Given the description of an element on the screen output the (x, y) to click on. 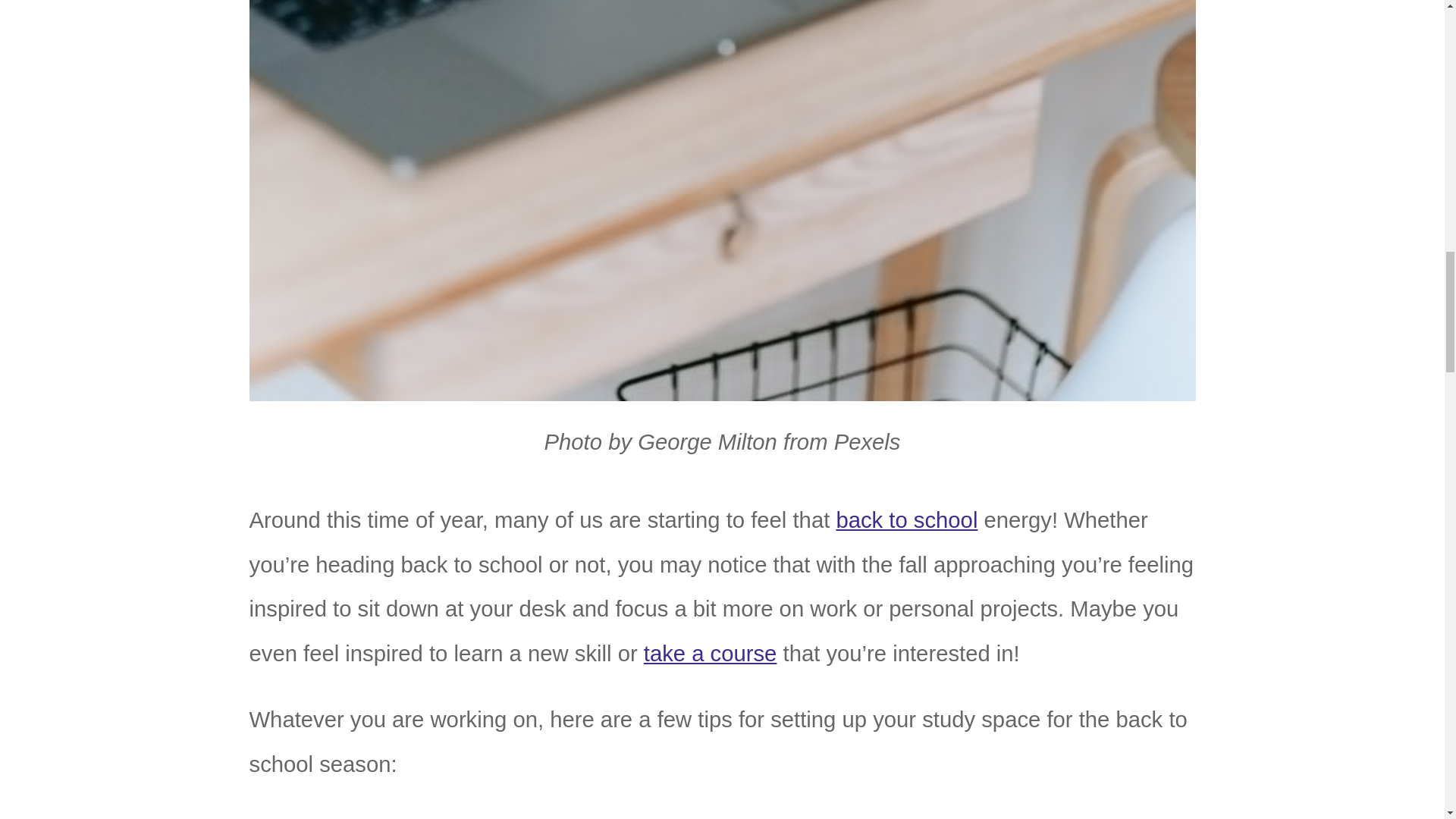
back to school (905, 519)
take a course (710, 653)
